Given the description of an element on the screen output the (x, y) to click on. 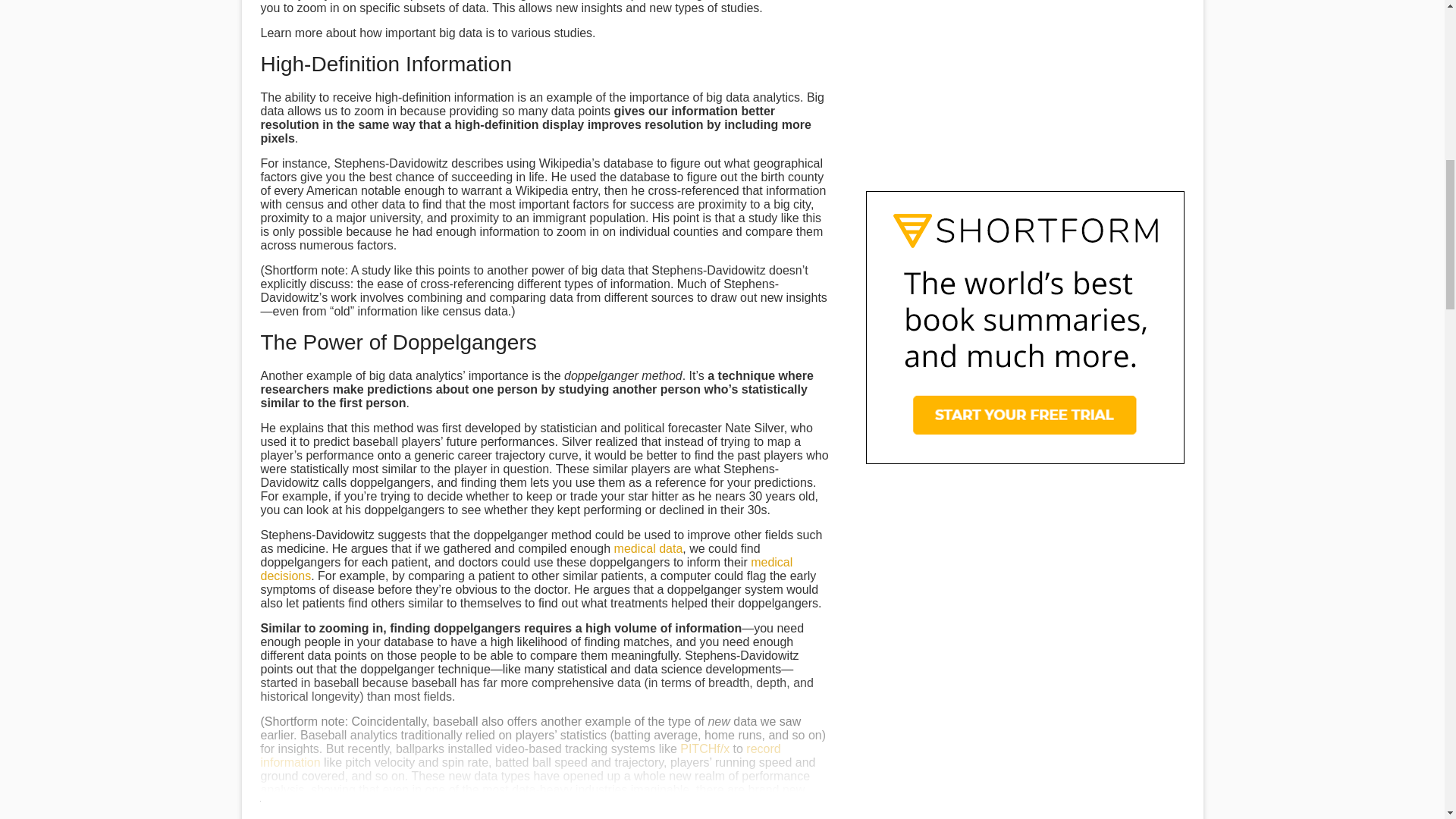
record information (520, 755)
medical decisions (526, 569)
medical data (648, 548)
